Given the description of an element on the screen output the (x, y) to click on. 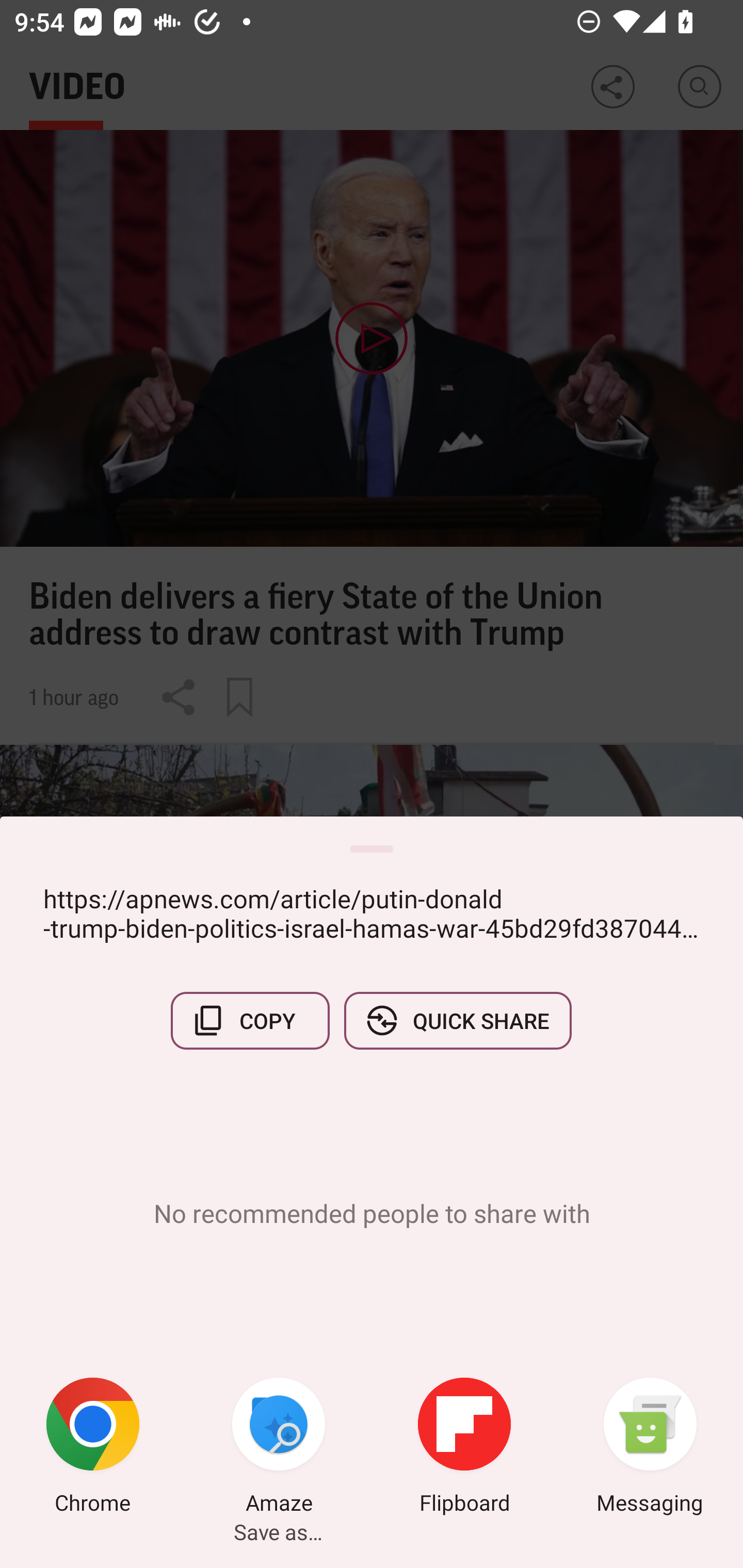
COPY (249, 1020)
QUICK SHARE (457, 1020)
Chrome (92, 1448)
Amaze Save as… (278, 1448)
Flipboard (464, 1448)
Messaging (650, 1448)
